Given the description of an element on the screen output the (x, y) to click on. 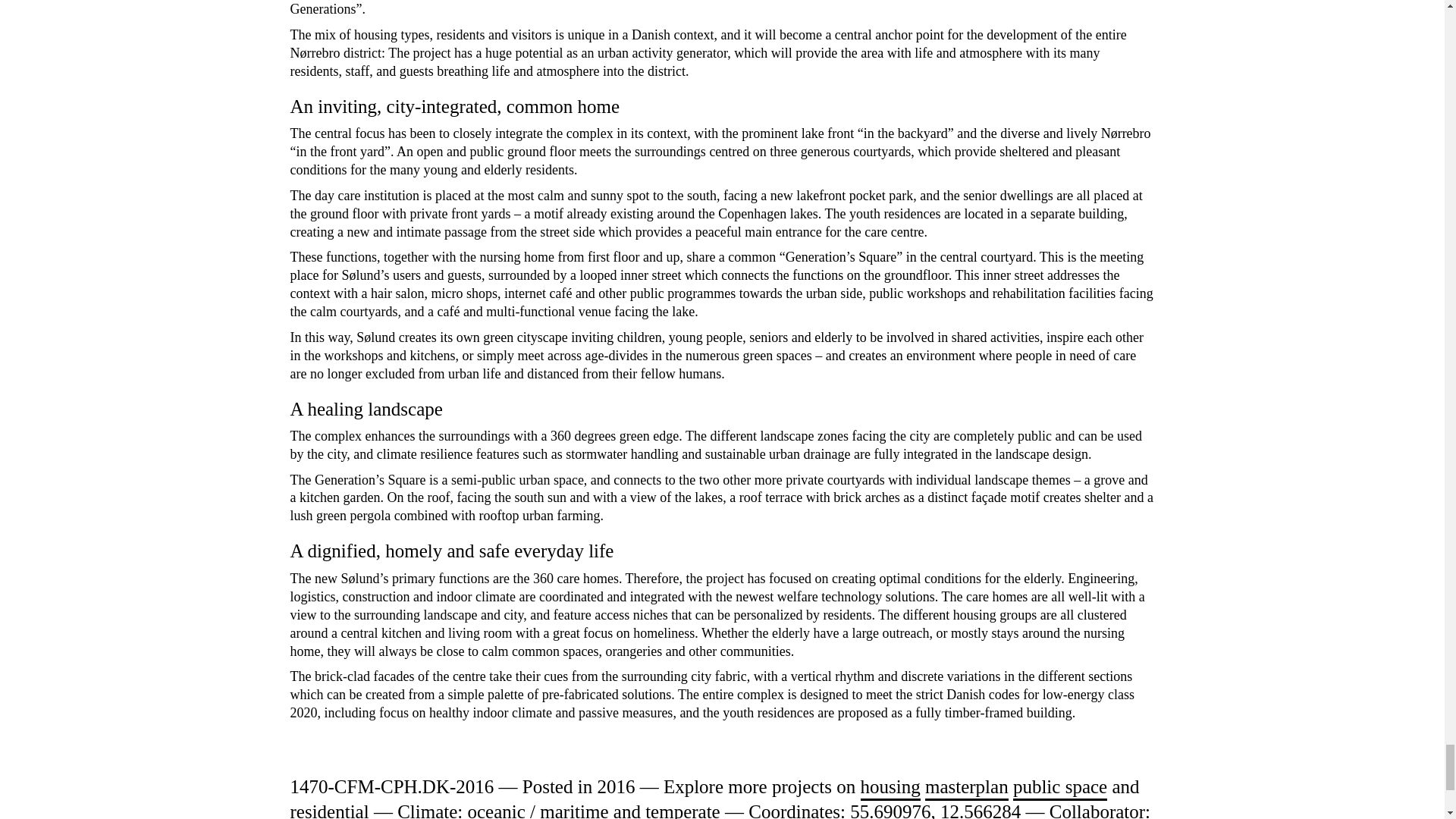
housing (890, 787)
masterplan (966, 787)
55.690976, 12.566284 (935, 809)
Housing (890, 787)
temperate (682, 809)
residential (328, 809)
Residential (328, 809)
public space (1059, 787)
Masterplan (966, 787)
Public space (1059, 787)
